Given the description of an element on the screen output the (x, y) to click on. 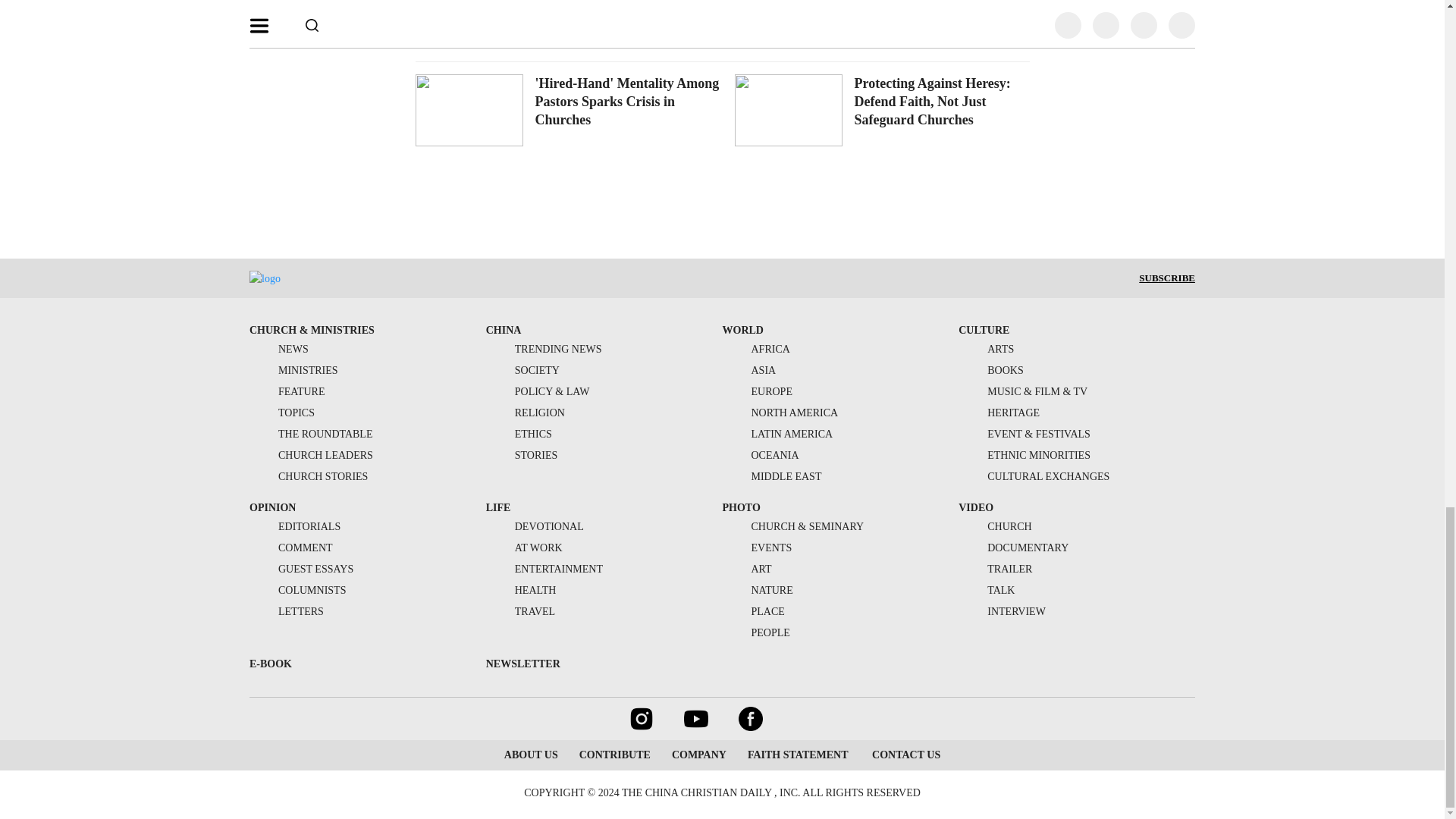
Observation: Three Types of Youth Ministry Practices (936, 4)
Xiangyang Church Funds Needy Students (610, 4)
CHURCH STORIES (308, 476)
TRENDING NEWS (544, 348)
MINISTRIES (292, 369)
CHINA (503, 329)
FEATURE (286, 391)
NEWS (278, 348)
CHURCH LEADERS (310, 455)
